Given the description of an element on the screen output the (x, y) to click on. 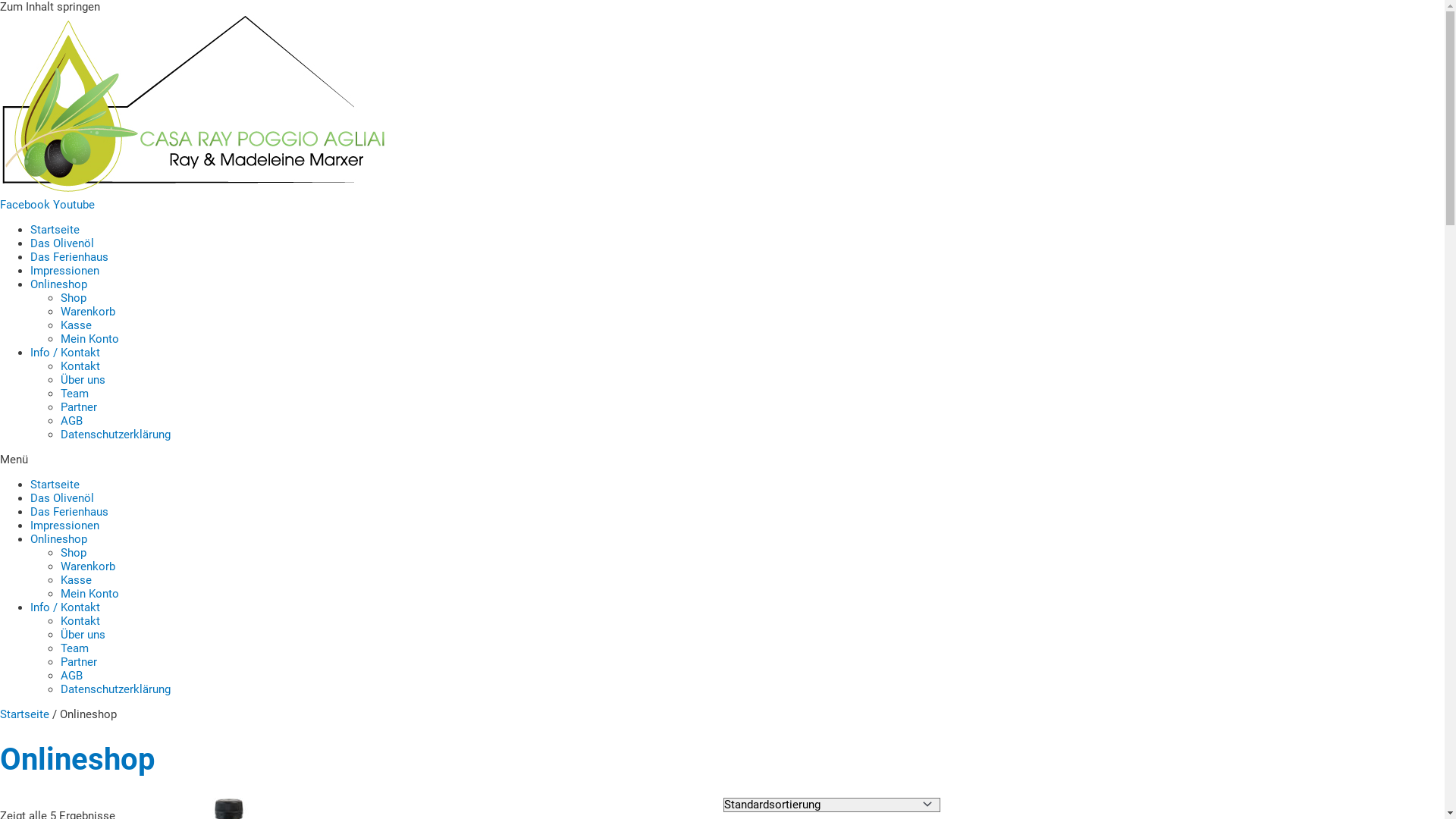
AGB Element type: text (71, 675)
Info / Kontakt Element type: text (65, 607)
Kontakt Element type: text (80, 366)
Kasse Element type: text (75, 325)
Team Element type: text (74, 648)
Onlineshop Element type: text (58, 284)
Startseite Element type: text (24, 714)
Startseite Element type: text (54, 229)
Impressionen Element type: text (64, 270)
Partner Element type: text (78, 661)
Partner Element type: text (78, 407)
Youtube Element type: text (73, 204)
Das Ferienhaus Element type: text (69, 256)
Shop Element type: text (73, 552)
Warenkorb Element type: text (87, 566)
Info / Kontakt Element type: text (65, 352)
Shop Element type: text (73, 297)
Impressionen Element type: text (64, 525)
Mein Konto Element type: text (89, 338)
Team Element type: text (74, 393)
Warenkorb Element type: text (87, 311)
Das Ferienhaus Element type: text (69, 511)
Onlineshop Element type: text (58, 539)
Mein Konto Element type: text (89, 593)
Kasse Element type: text (75, 579)
AGB Element type: text (71, 420)
Kontakt Element type: text (80, 620)
Facebook Element type: text (26, 204)
Startseite Element type: text (54, 484)
Zum Inhalt springen Element type: text (50, 6)
